Given the description of an element on the screen output the (x, y) to click on. 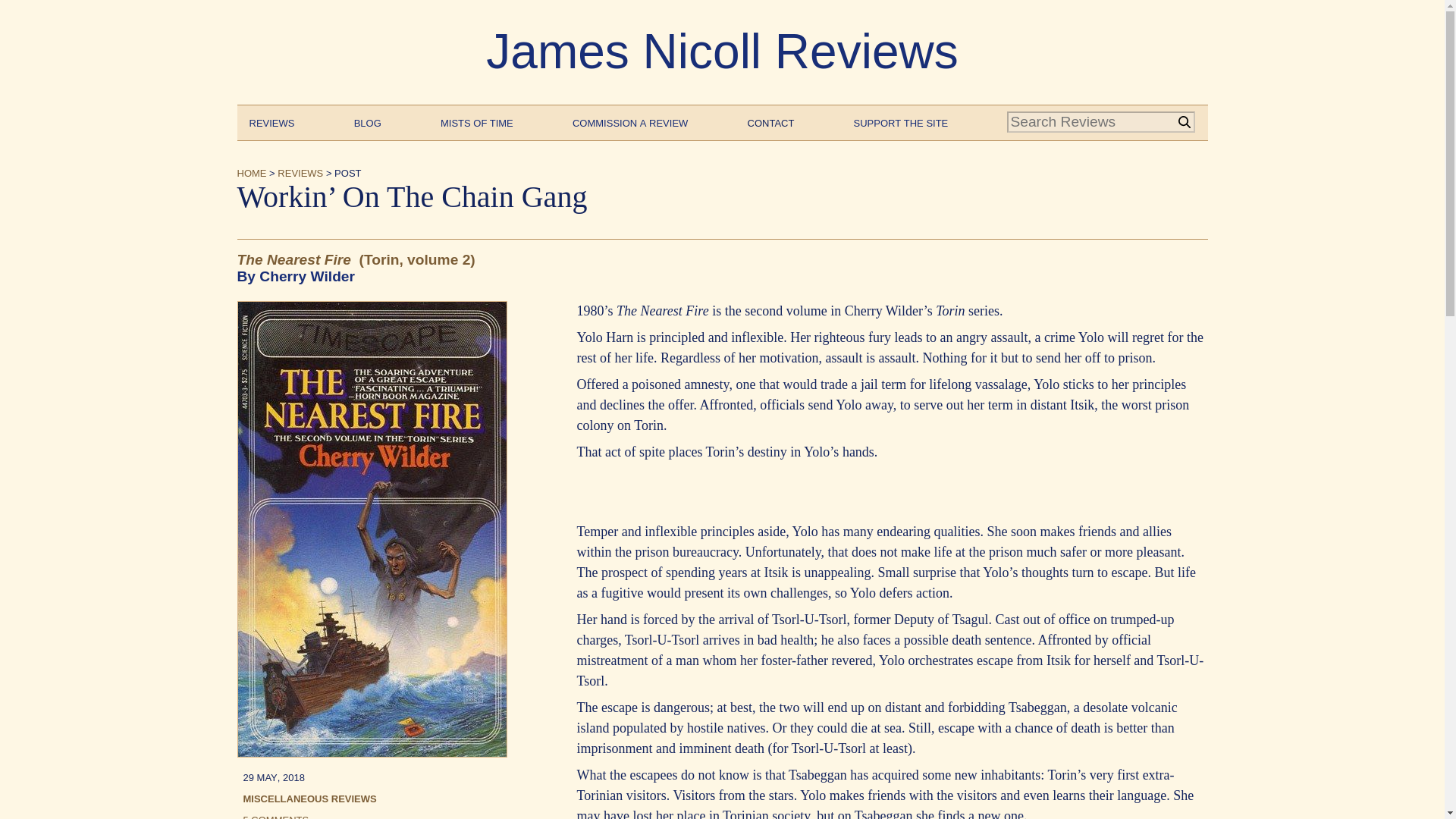
Reviews (271, 121)
Commission a Review (629, 121)
Home (250, 171)
James Nicoll Reviews (722, 51)
5 comments (275, 815)
Mists of Time (477, 121)
Reviews (300, 171)
Miscellaneous Reviews (309, 797)
Blog (367, 121)
Support the Site (901, 121)
